Given the description of an element on the screen output the (x, y) to click on. 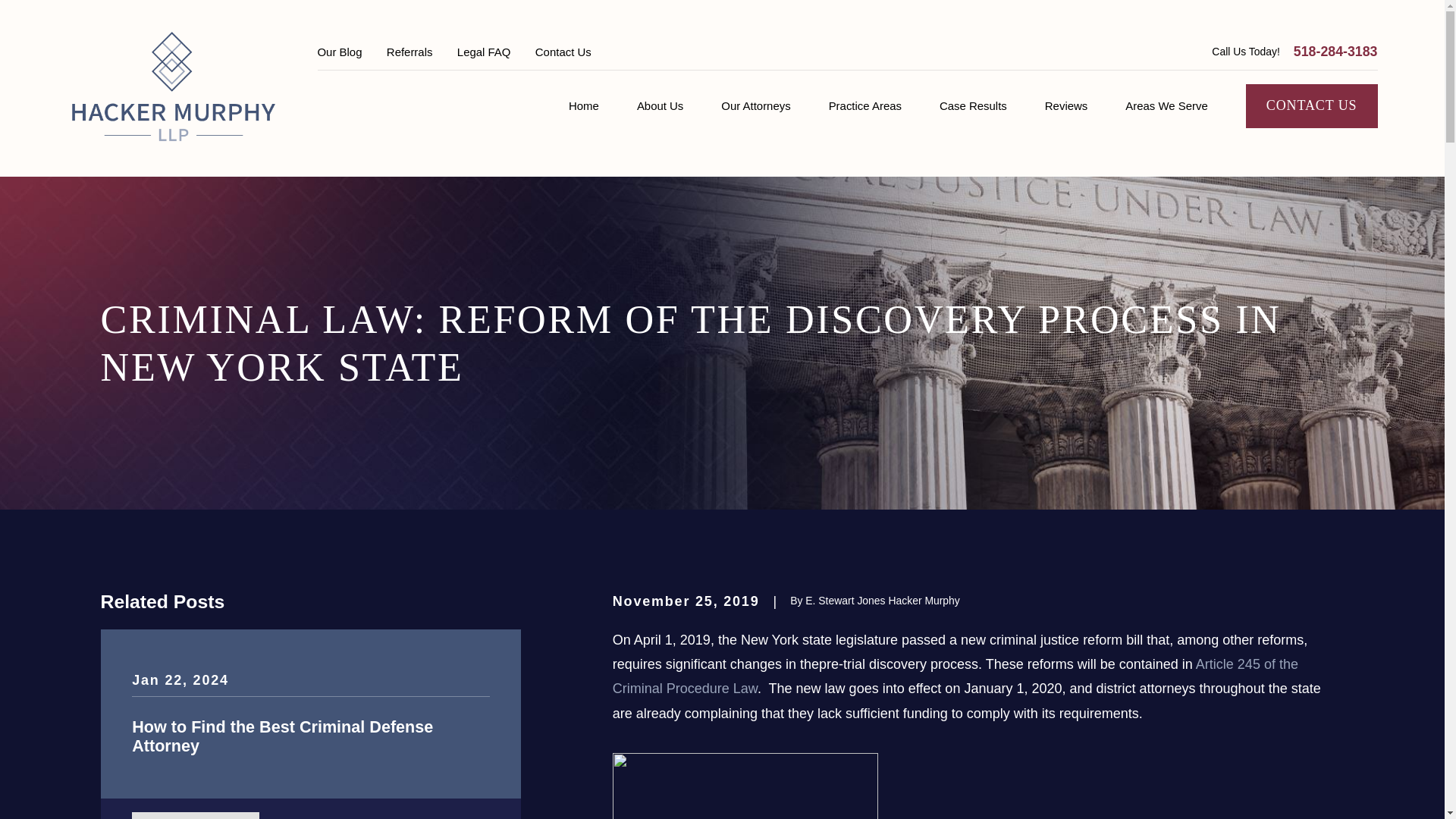
Home (172, 87)
Our Blog (339, 51)
Referrals (409, 51)
Practice Areas (864, 105)
Our Attorneys (755, 105)
Legal FAQ (484, 51)
Contact Us (563, 51)
518-284-3183 (1335, 51)
About Us (659, 105)
